Given the description of an element on the screen output the (x, y) to click on. 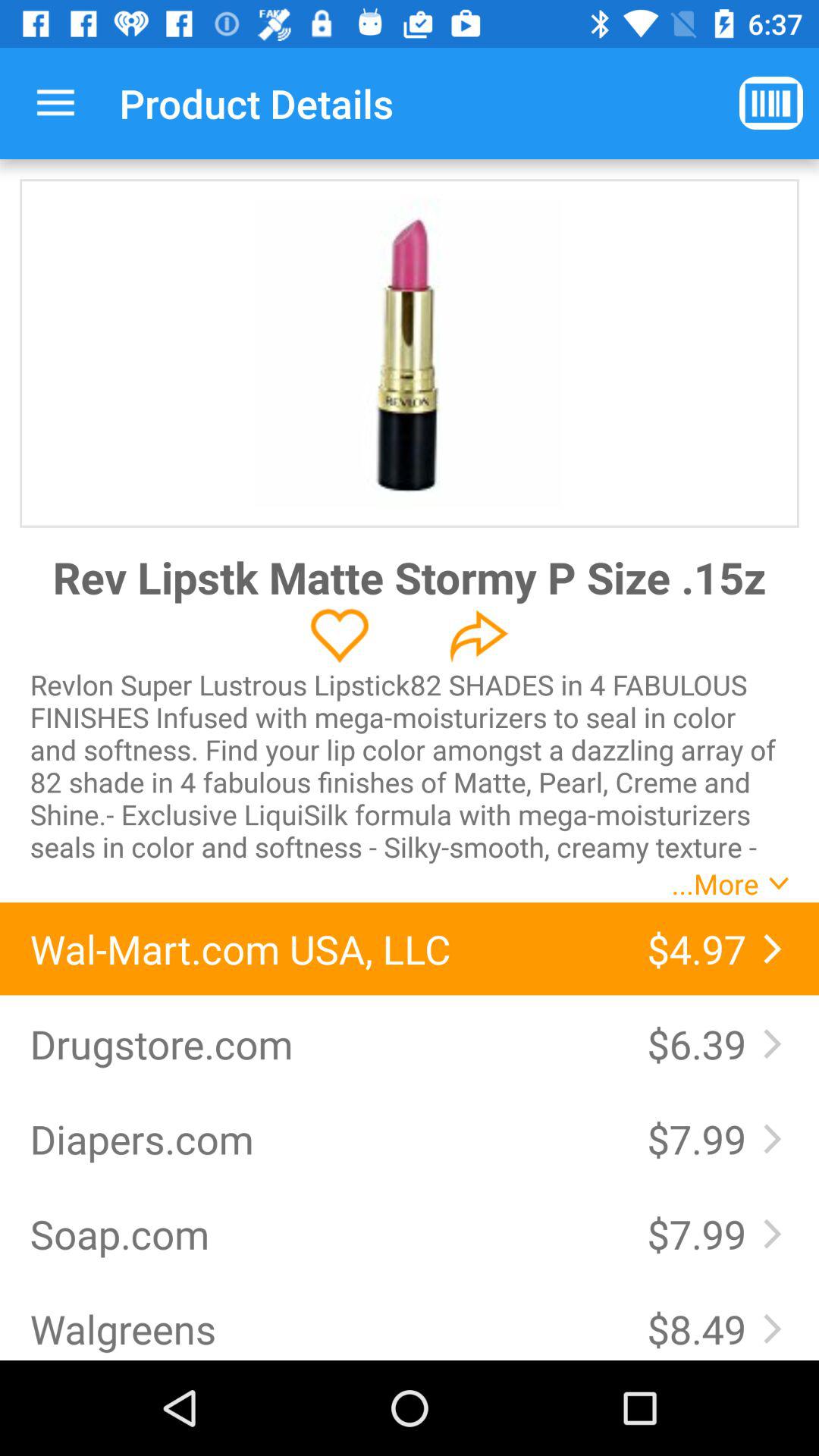
turn off item to the left of $6.39 icon (323, 1043)
